Given the description of an element on the screen output the (x, y) to click on. 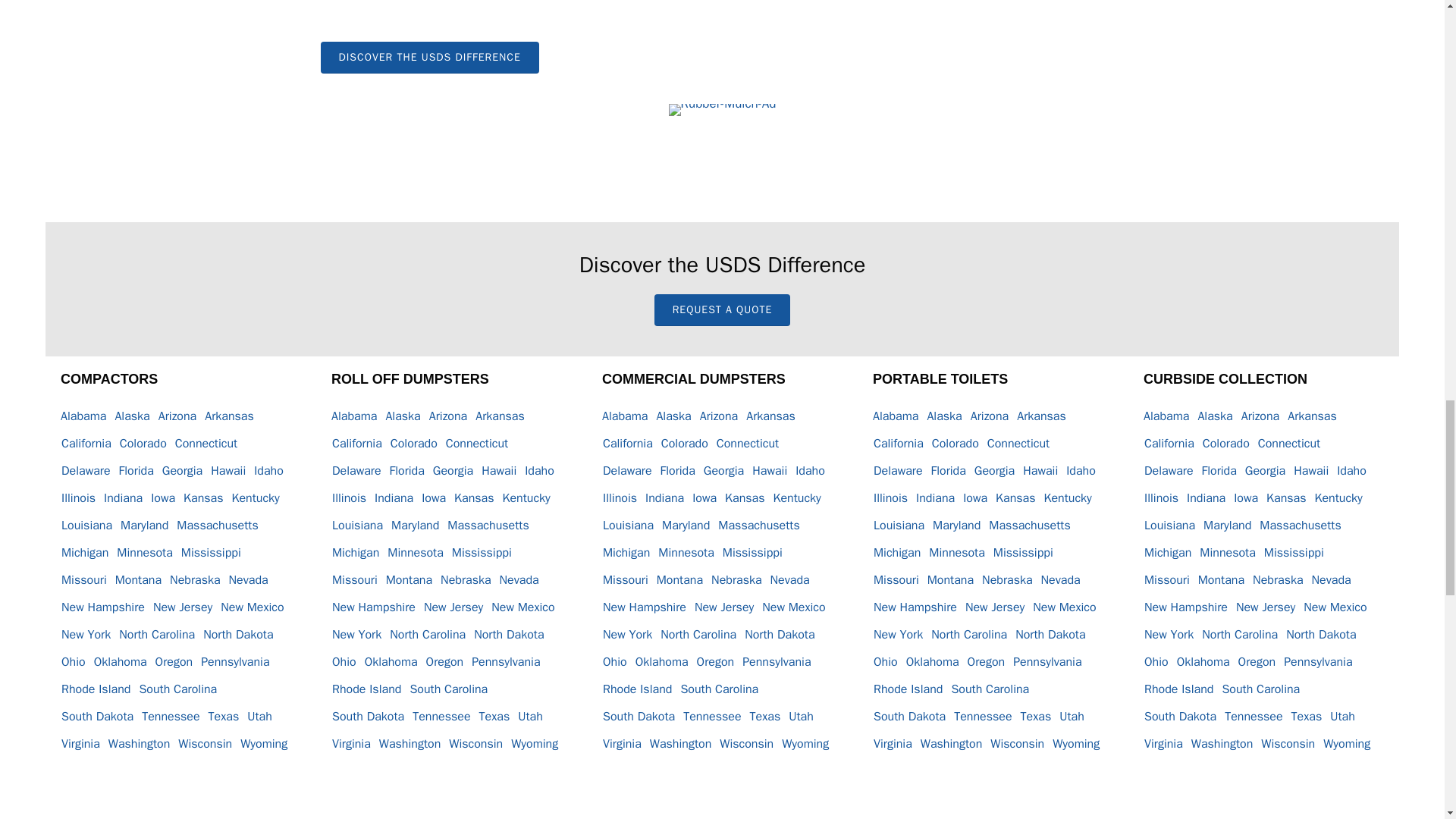
Arizona (180, 415)
Alabama (87, 415)
Connecticut (209, 443)
Arkansas (233, 415)
Georgia (185, 470)
Florida (140, 470)
Rubber-Mulch-Ad (722, 110)
California (90, 443)
Alaska (136, 415)
DISCOVER THE USDS DIFFERENCE (429, 57)
